Given the description of an element on the screen output the (x, y) to click on. 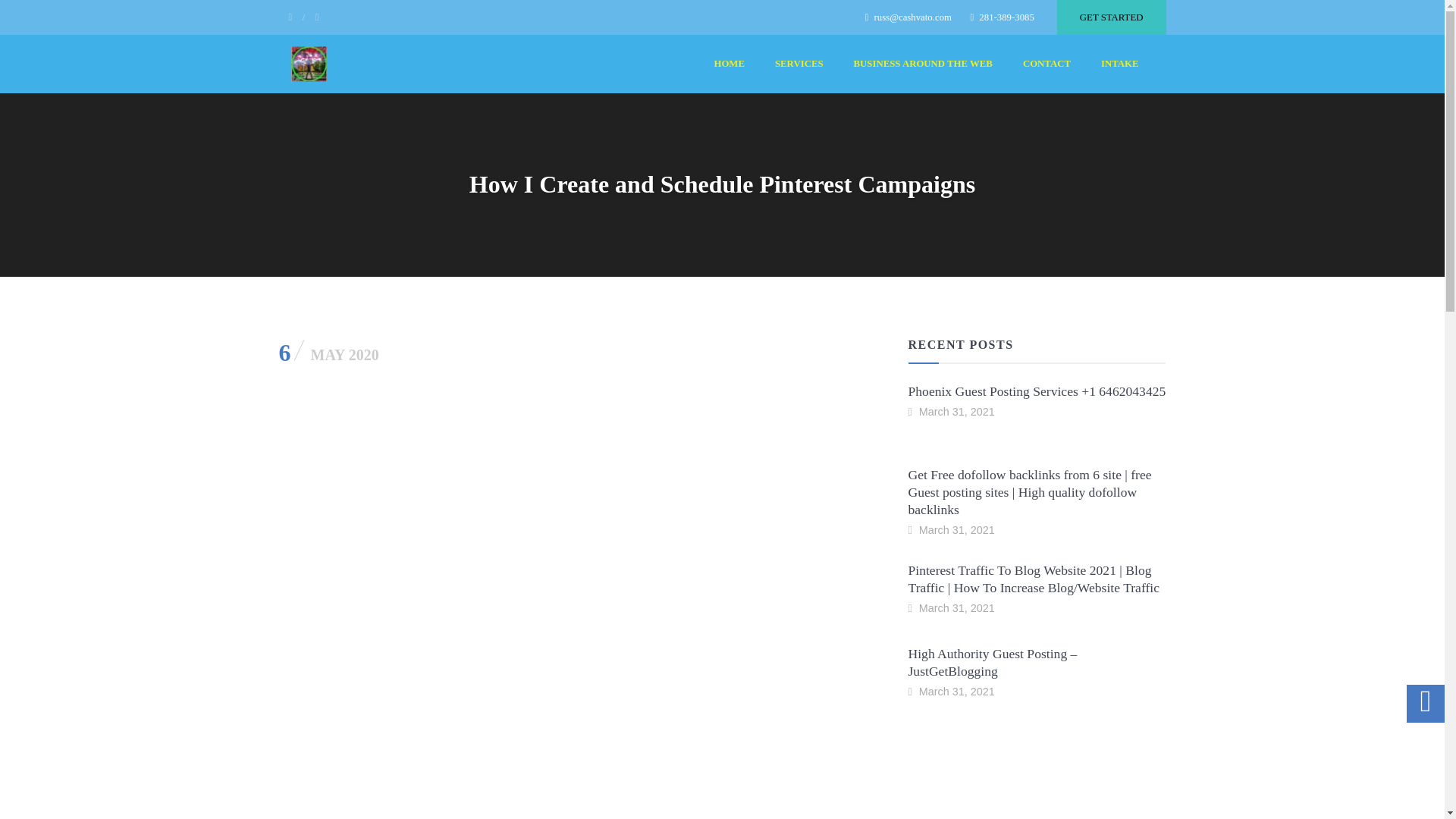
BUSINESS AROUND THE WEB (922, 63)
GET STARTED (1111, 17)
INTAKE (1120, 63)
SERVICES (799, 63)
HOME (729, 63)
281-389-3085 (1001, 17)
CONTACT (1046, 63)
